Given the description of an element on the screen output the (x, y) to click on. 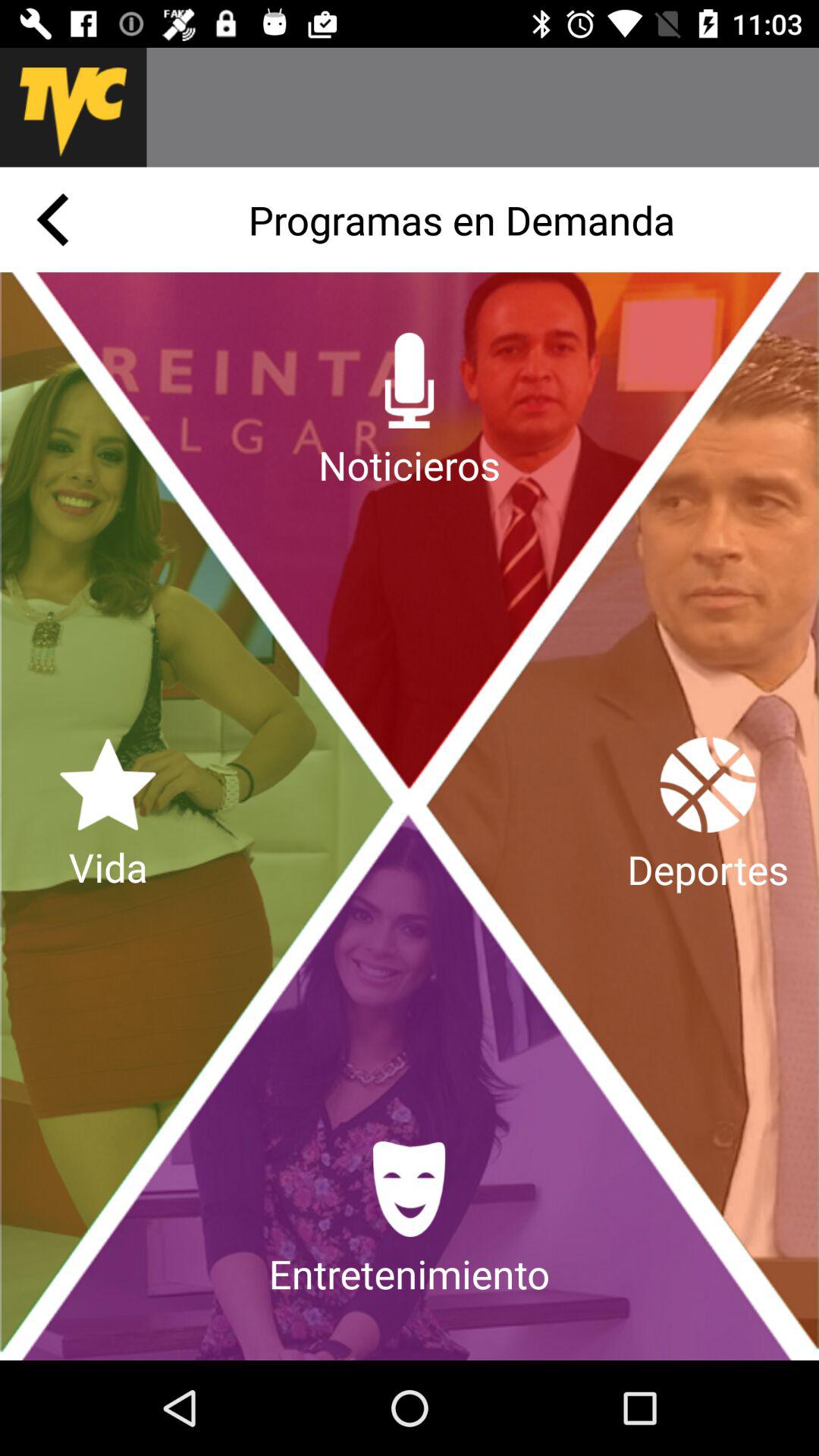
tap item above programas en demanda app (482, 107)
